Given the description of an element on the screen output the (x, y) to click on. 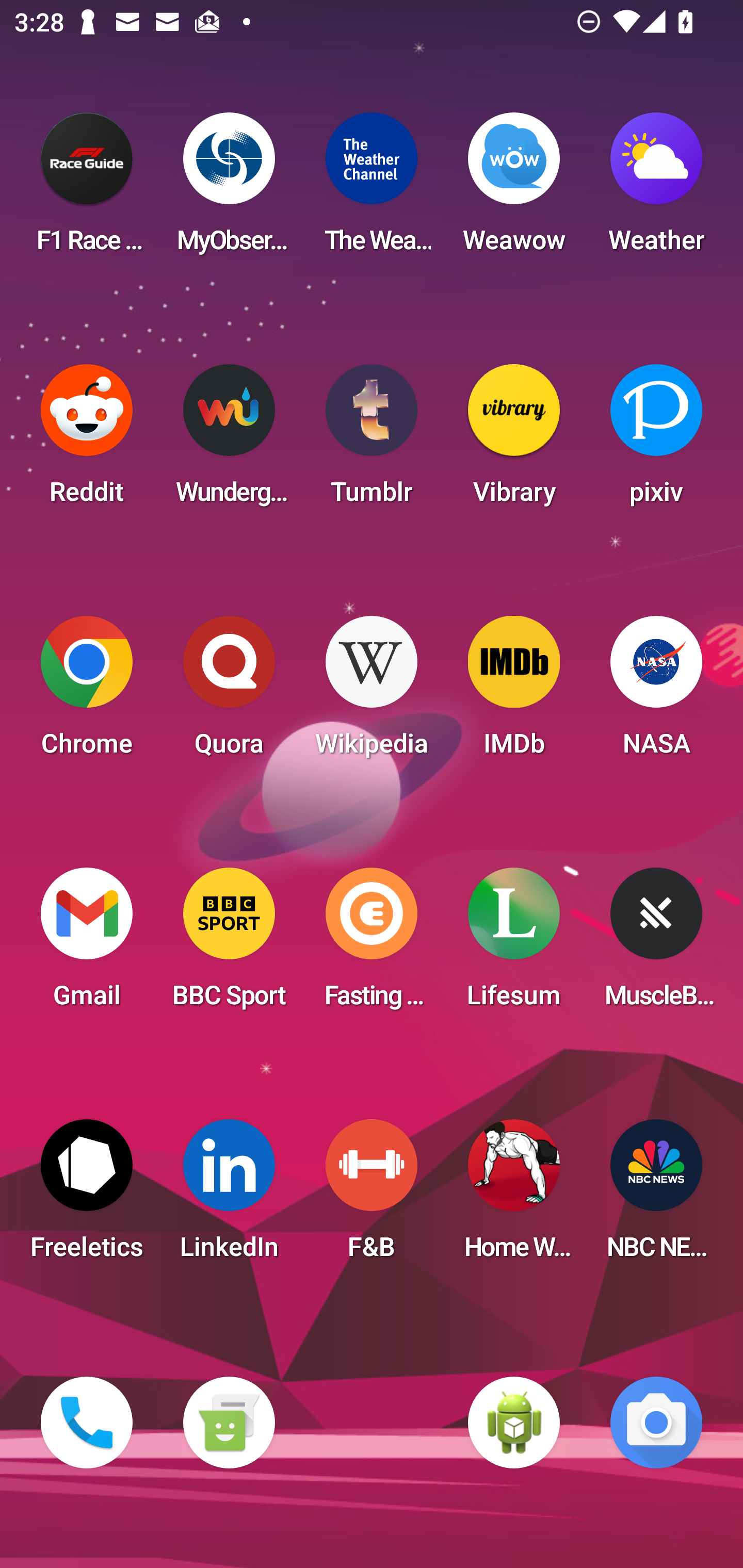
F1 Race Guide (86, 188)
MyObservatory (228, 188)
The Weather Channel (371, 188)
Weawow (513, 188)
Weather (656, 188)
Reddit (86, 440)
Wunderground (228, 440)
Tumblr (371, 440)
Vibrary (513, 440)
pixiv (656, 440)
Chrome (86, 692)
Quora (228, 692)
Wikipedia (371, 692)
IMDb (513, 692)
NASA (656, 692)
Gmail (86, 943)
BBC Sport (228, 943)
Fasting Coach (371, 943)
Lifesum (513, 943)
MuscleBooster (656, 943)
Freeletics (86, 1195)
LinkedIn (228, 1195)
F&B (371, 1195)
Home Workout (513, 1195)
NBC NEWS (656, 1195)
Phone (86, 1422)
Messaging (228, 1422)
WebView Browser Tester (513, 1422)
Camera (656, 1422)
